Given the description of an element on the screen output the (x, y) to click on. 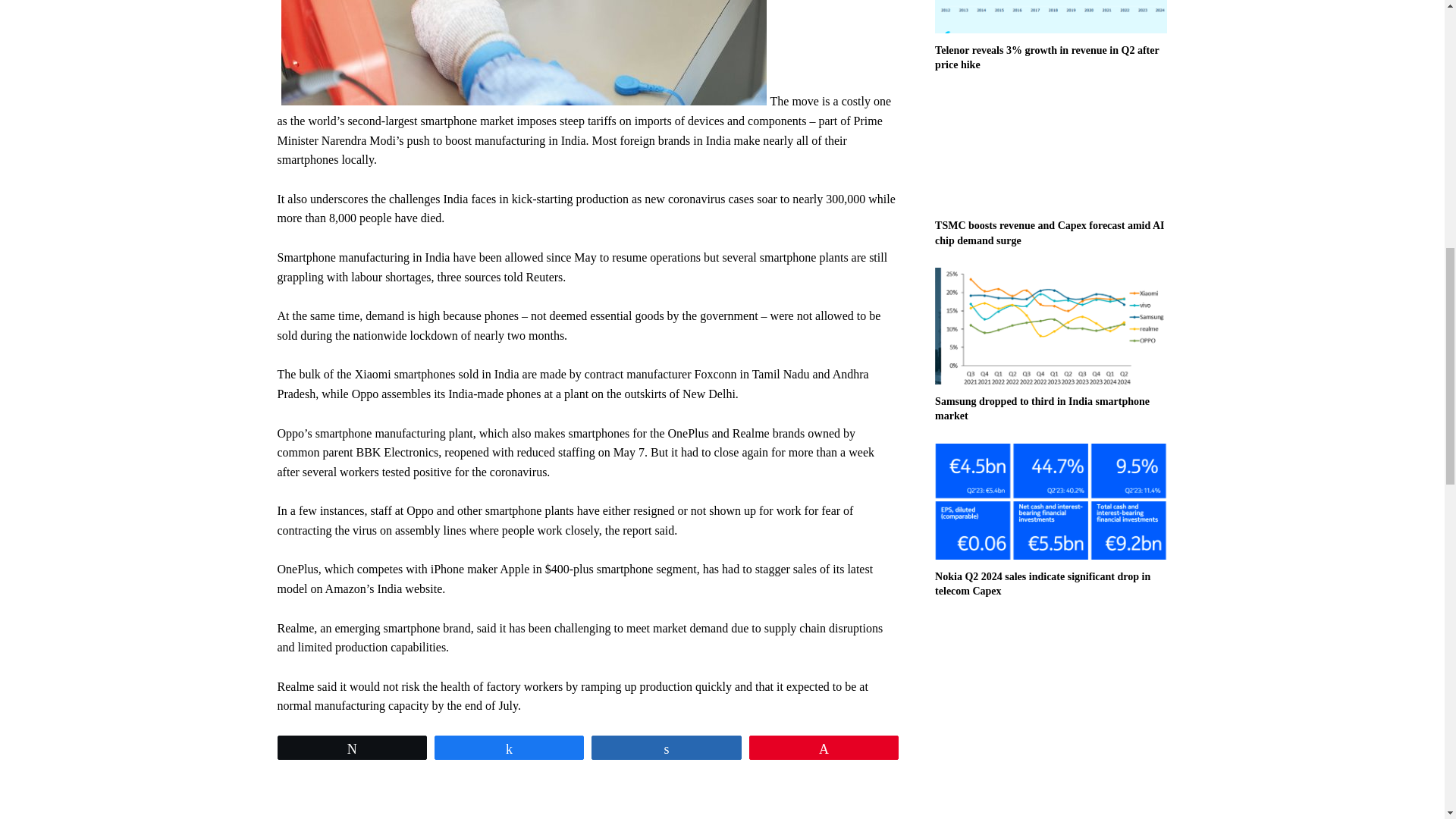
Samsung dropped to third in India smartphone market (1042, 408)
Samsung dropped to third in India smartphone market (1050, 325)
